Given the description of an element on the screen output the (x, y) to click on. 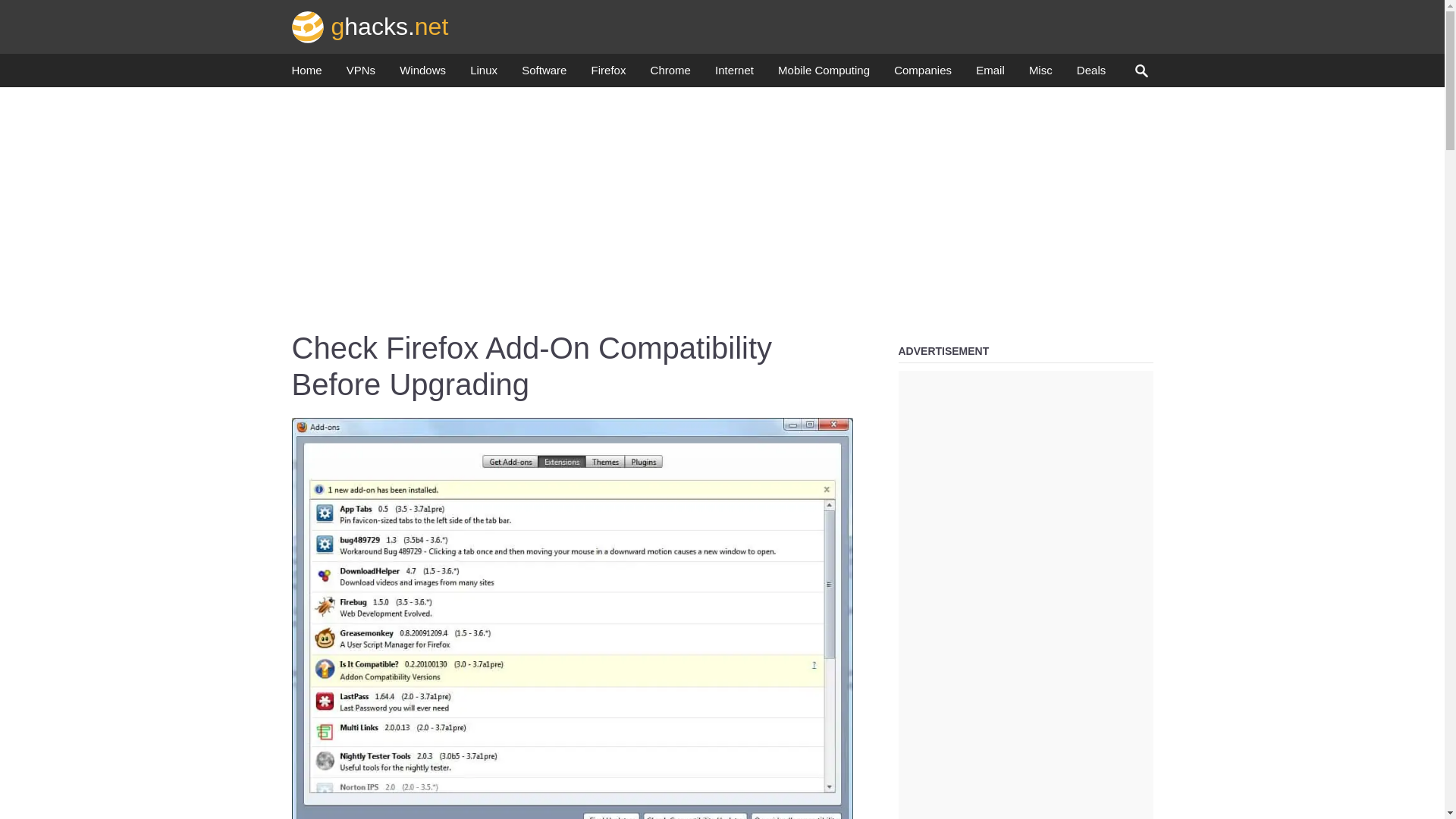
Email (989, 73)
Linux (483, 73)
VPNs (360, 73)
ghacks.net (369, 26)
Firefox (608, 73)
Chrome (670, 73)
Companies (922, 73)
Home (306, 73)
Misc (1040, 73)
Mobile Computing (823, 73)
